Given the description of an element on the screen output the (x, y) to click on. 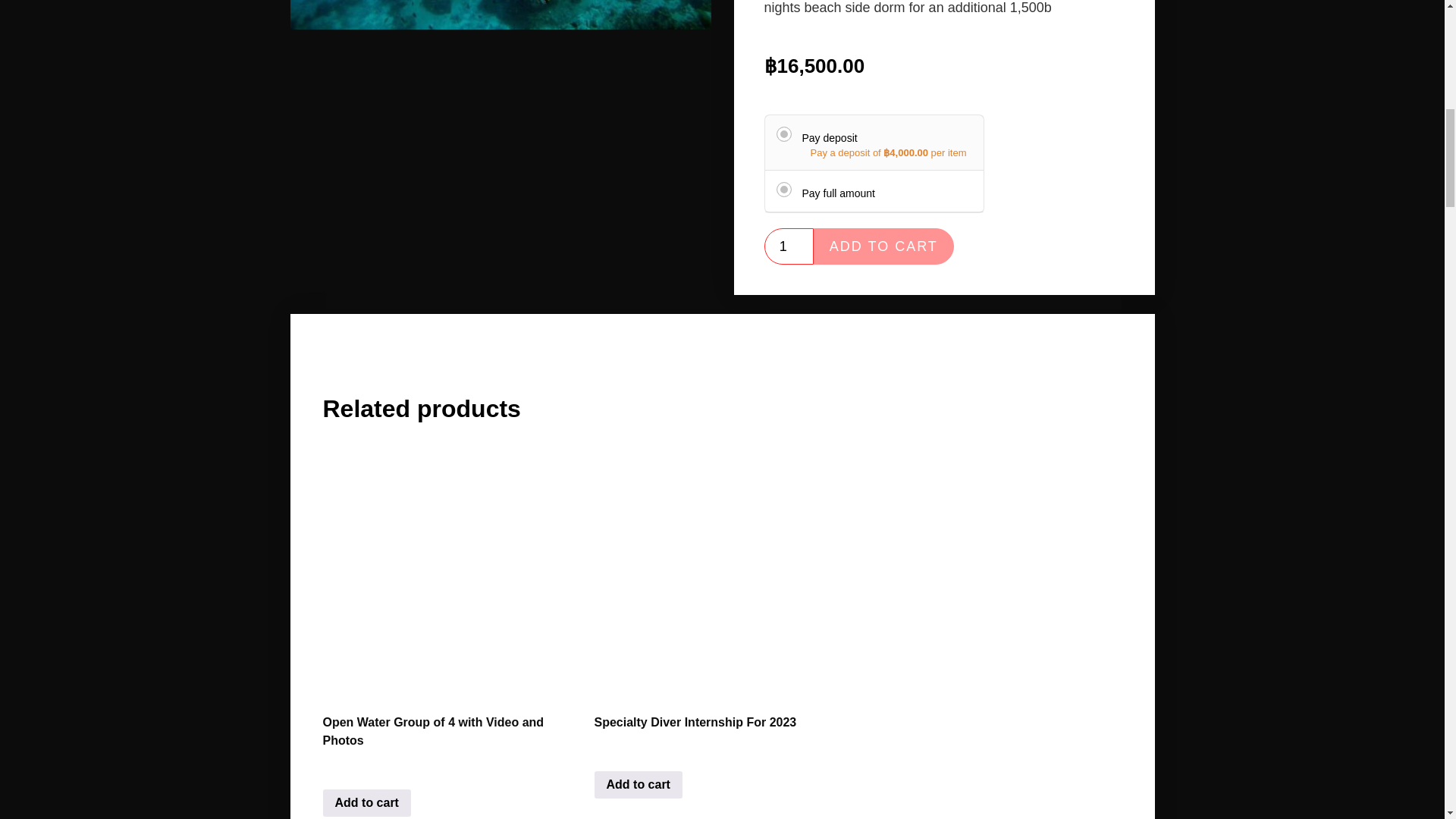
open-water-dive-.jpg (499, 14)
1 (788, 246)
